Given the description of an element on the screen output the (x, y) to click on. 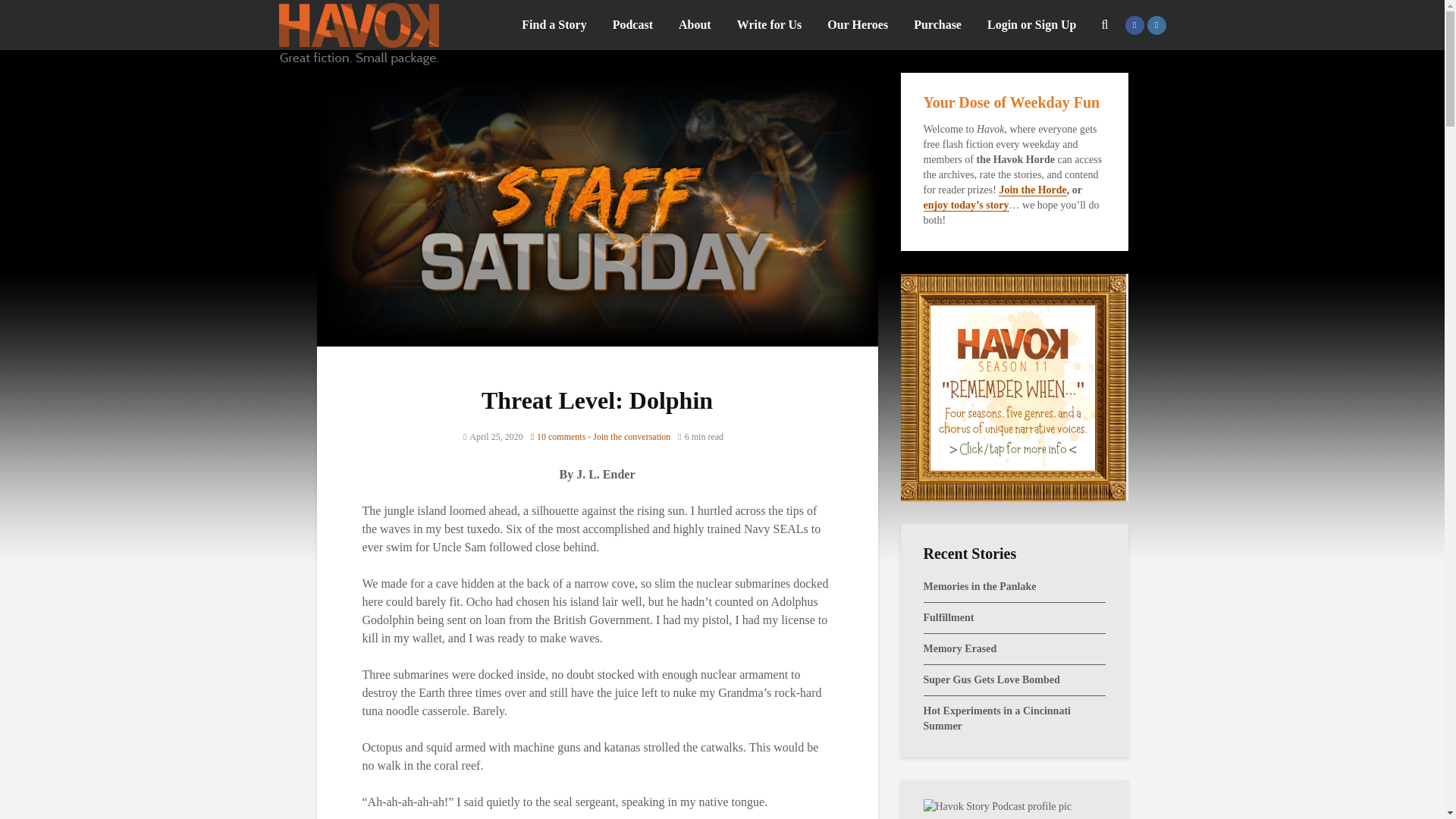
Our Heroes (857, 24)
Podcast (632, 24)
Write for Us (769, 24)
Find a Story (553, 24)
About (694, 24)
Login or Sign Up (1031, 24)
Purchase (937, 24)
